Given the description of an element on the screen output the (x, y) to click on. 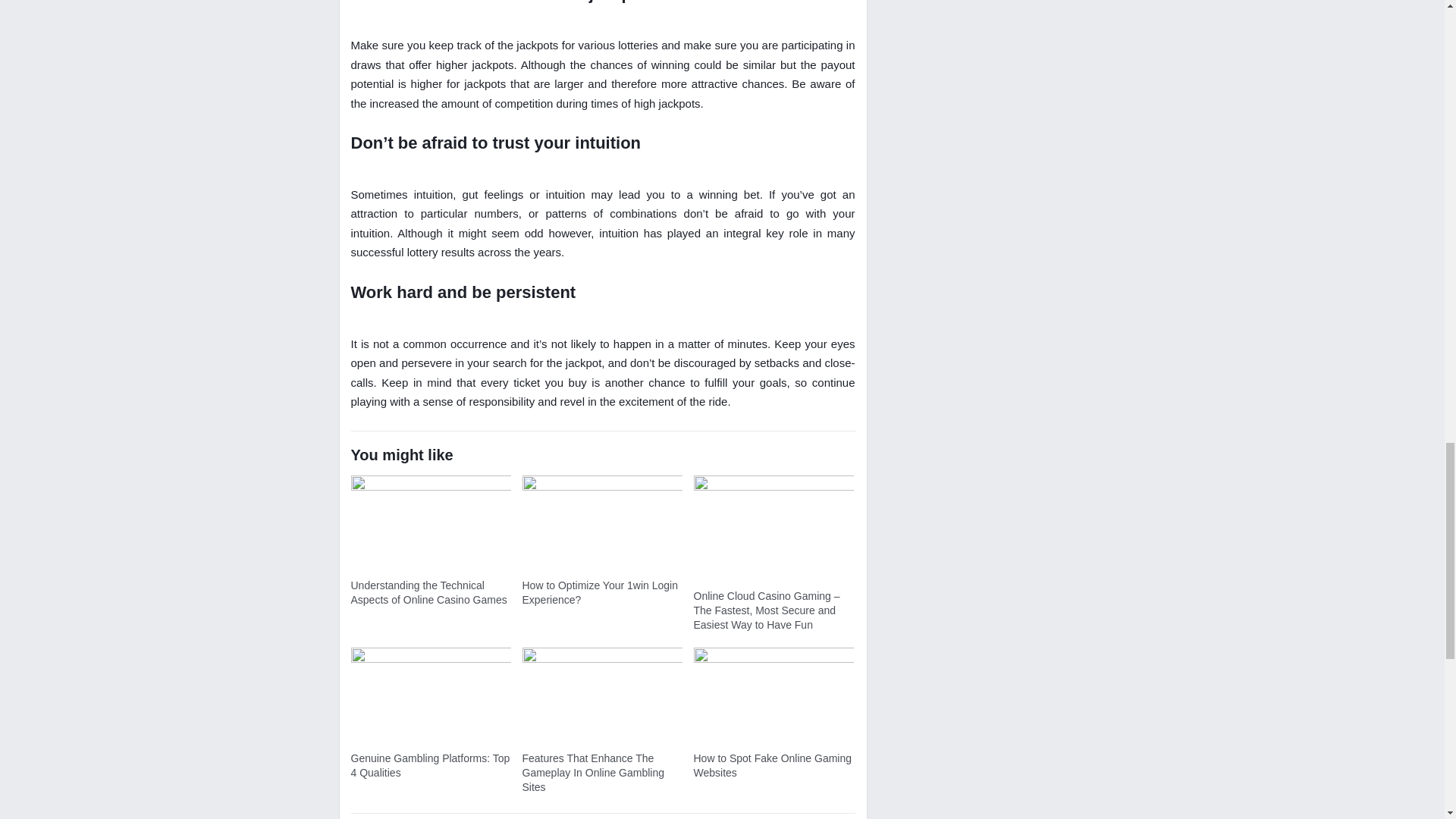
Understanding the Technical Aspects of Online Casino Games (428, 592)
Genuine Gambling Platforms: Top 4 Qualities (429, 765)
Features That Enhance The Gameplay In Online Gambling Sites (592, 772)
How to Spot Fake Online Gaming Websites (772, 765)
How to Optimize Your 1win Login Experience? (599, 592)
